Given the description of an element on the screen output the (x, y) to click on. 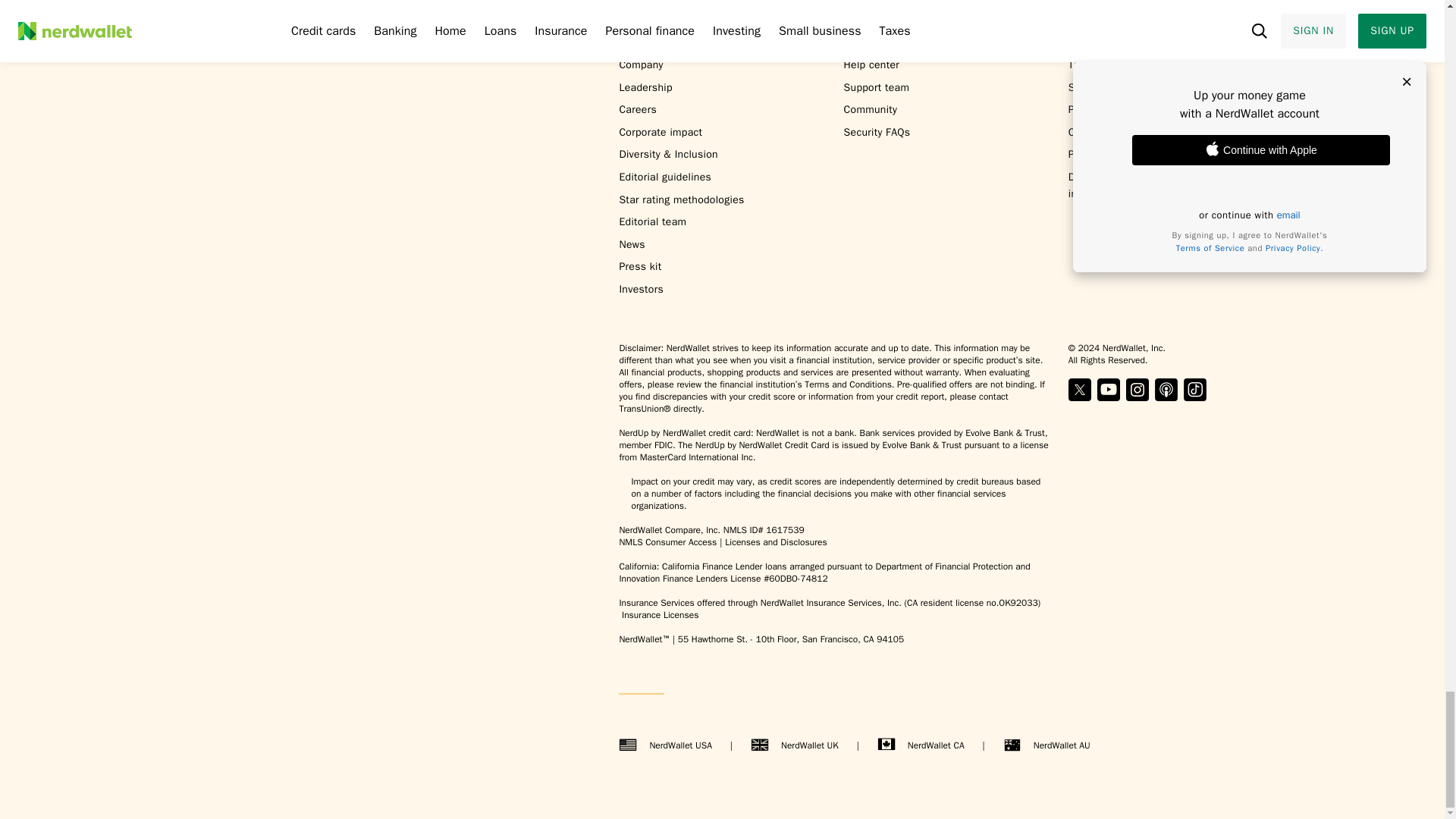
TikTok (1195, 389)
X (1079, 389)
Apple Podcasts (1165, 389)
YouTube (1108, 389)
Instagram (1136, 389)
